Given the description of an element on the screen output the (x, y) to click on. 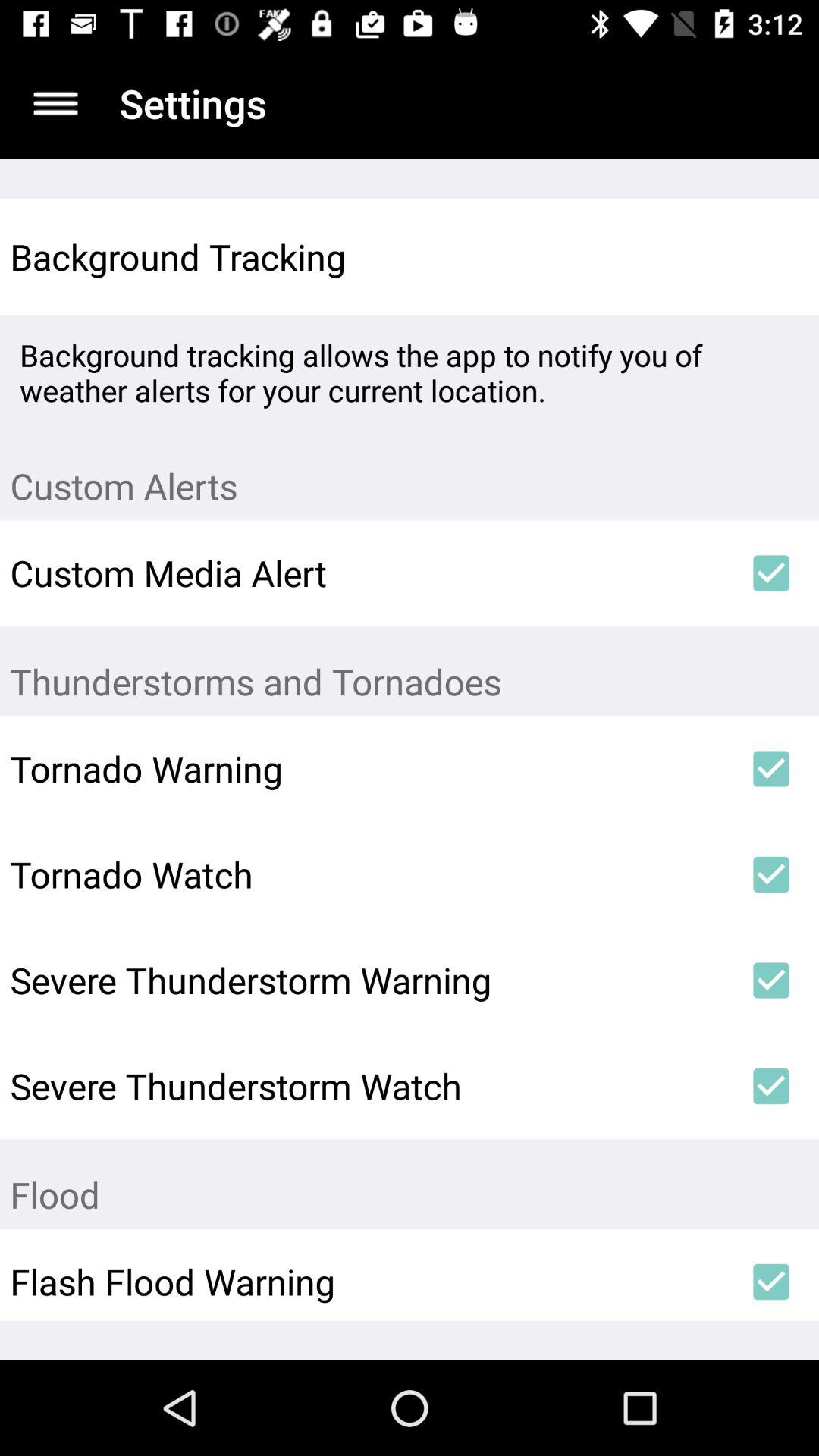
select the thunderstorms and tornadoes (409, 671)
